Given the description of an element on the screen output the (x, y) to click on. 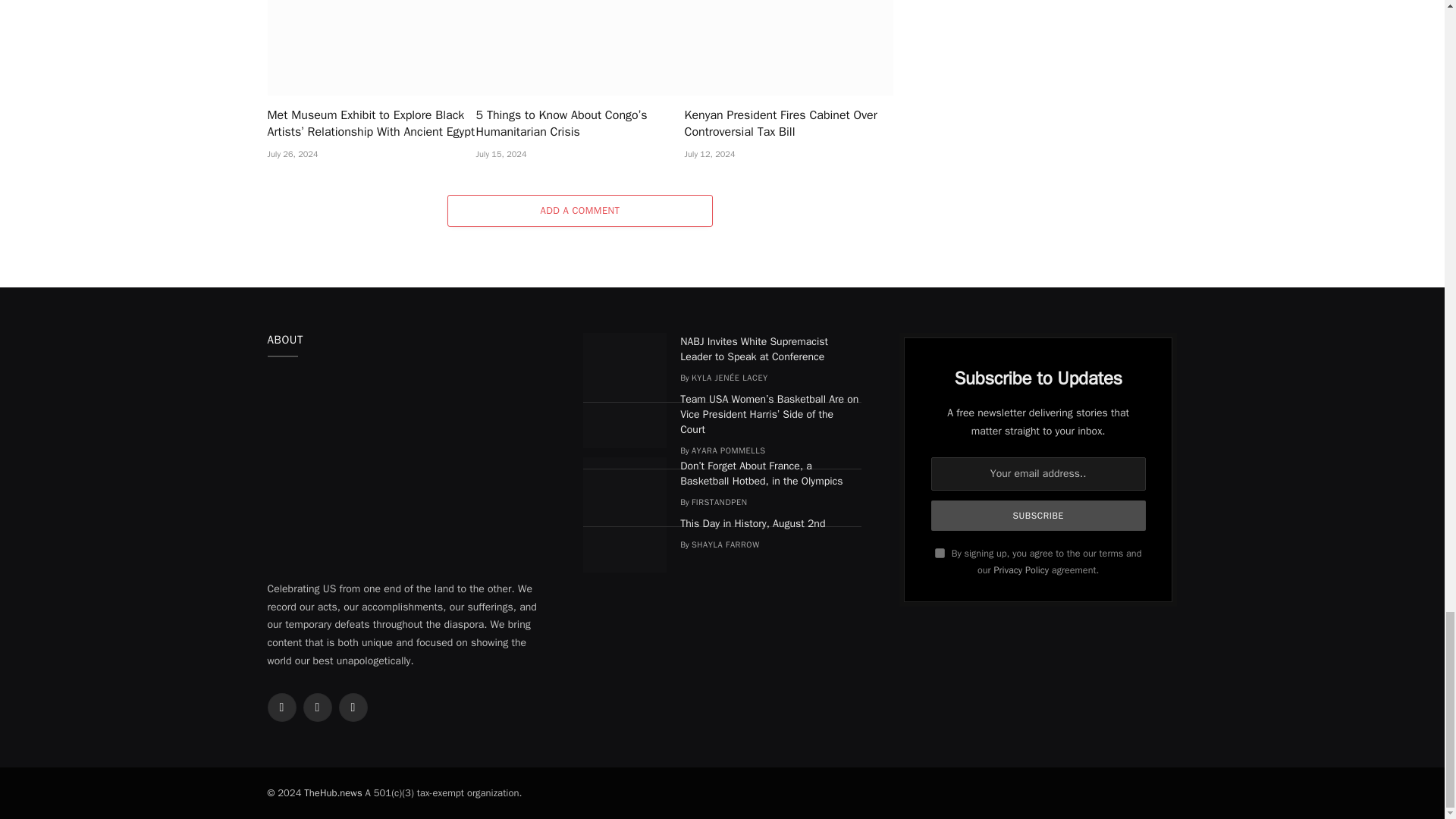
Subscribe (1038, 515)
on (939, 552)
